Given the description of an element on the screen output the (x, y) to click on. 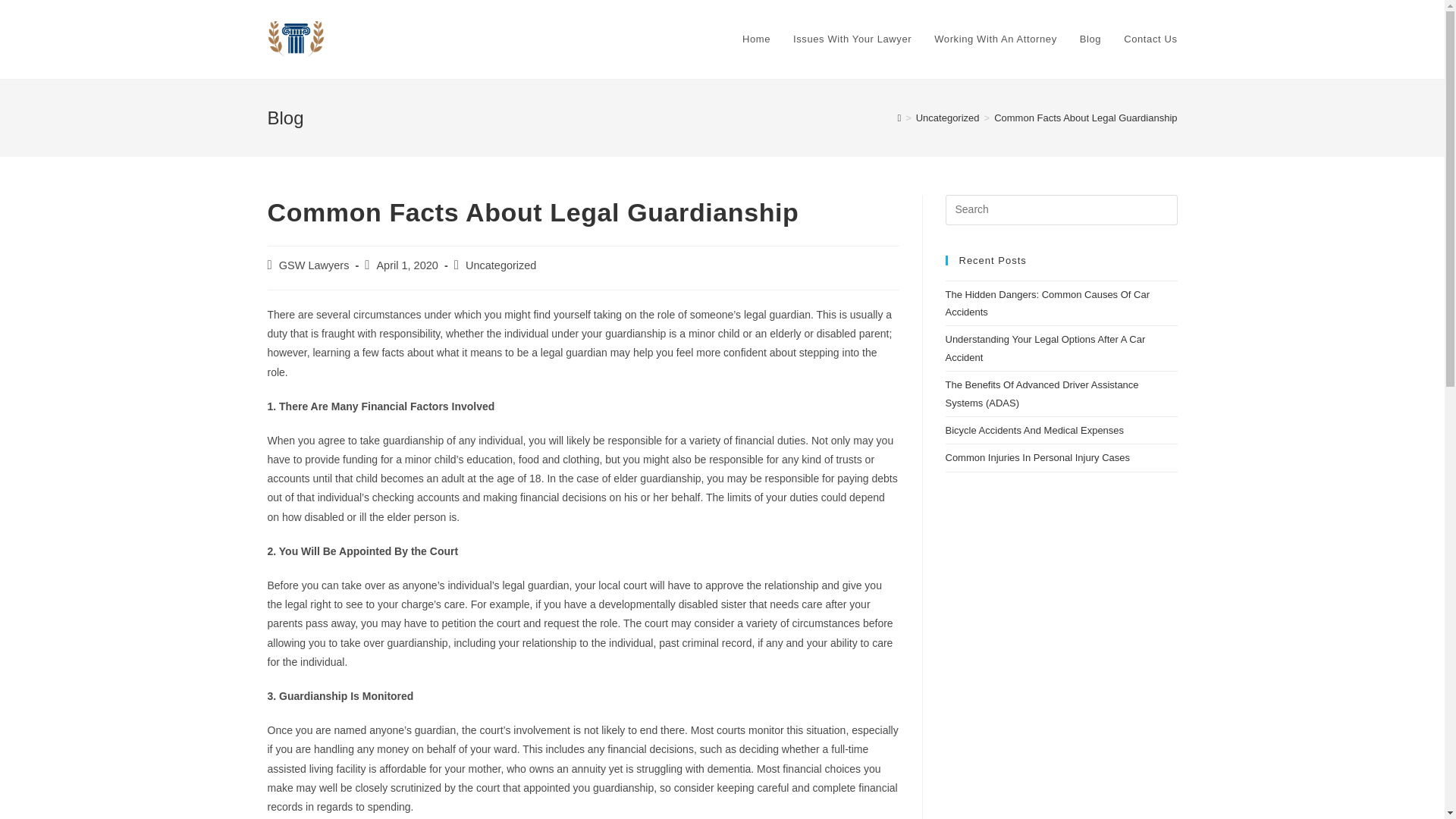
Contact Us (1150, 39)
Uncategorized (947, 117)
The Hidden Dangers: Common Causes Of Car Accidents (1047, 303)
Working With An Attorney (995, 39)
Understanding Your Legal Options After A Car Accident (1044, 347)
Posts by GSW Lawyers (314, 265)
Common Facts About Legal Guardianship (1085, 117)
Bicycle Accidents And Medical Expenses (1034, 430)
Home (755, 39)
Common Injuries In Personal Injury Cases (1036, 457)
GSW Lawyers (314, 265)
Uncategorized (501, 265)
Issues With Your Lawyer (852, 39)
